Given the description of an element on the screen output the (x, y) to click on. 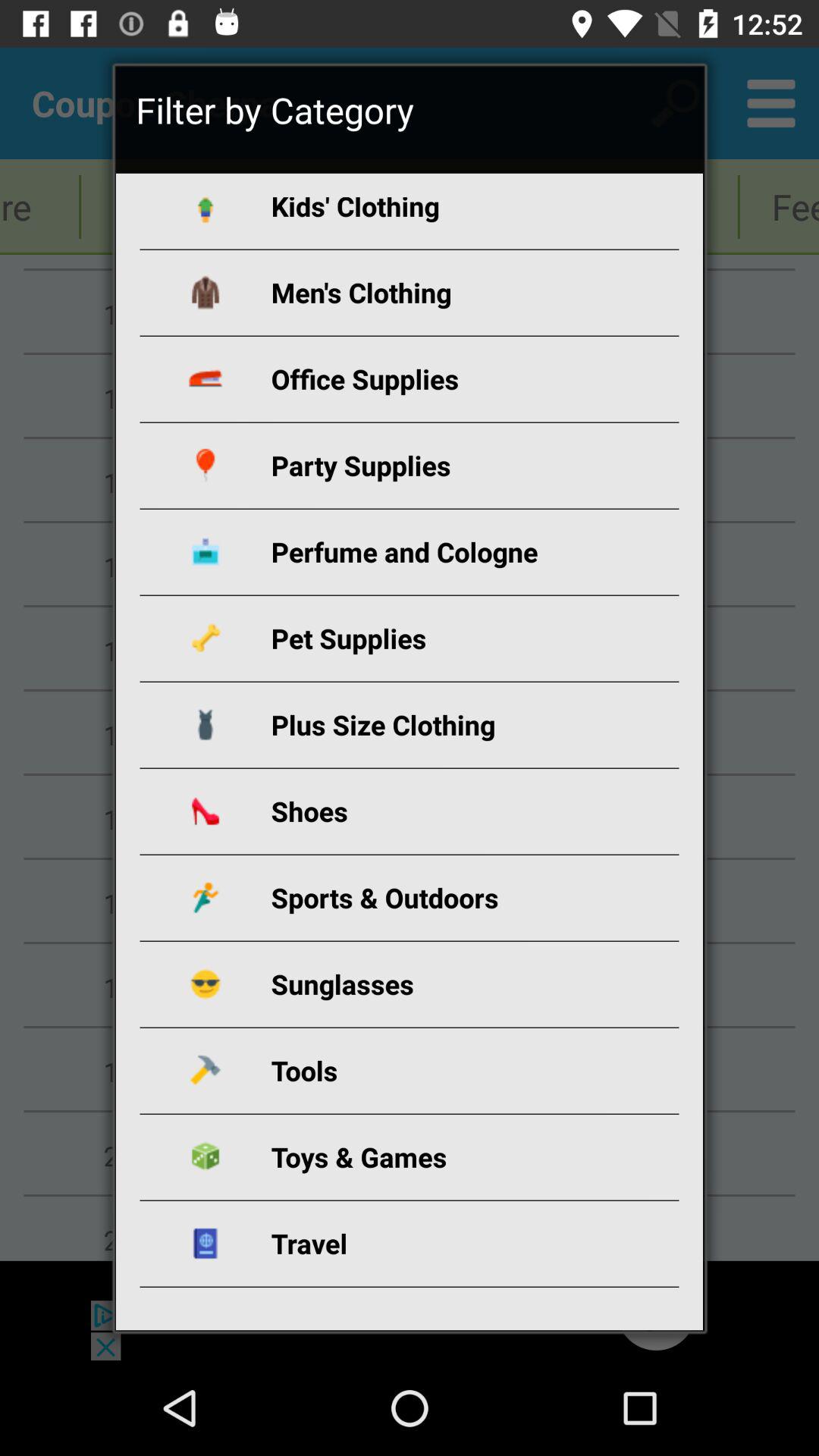
select the item below filter by category icon (427, 210)
